Given the description of an element on the screen output the (x, y) to click on. 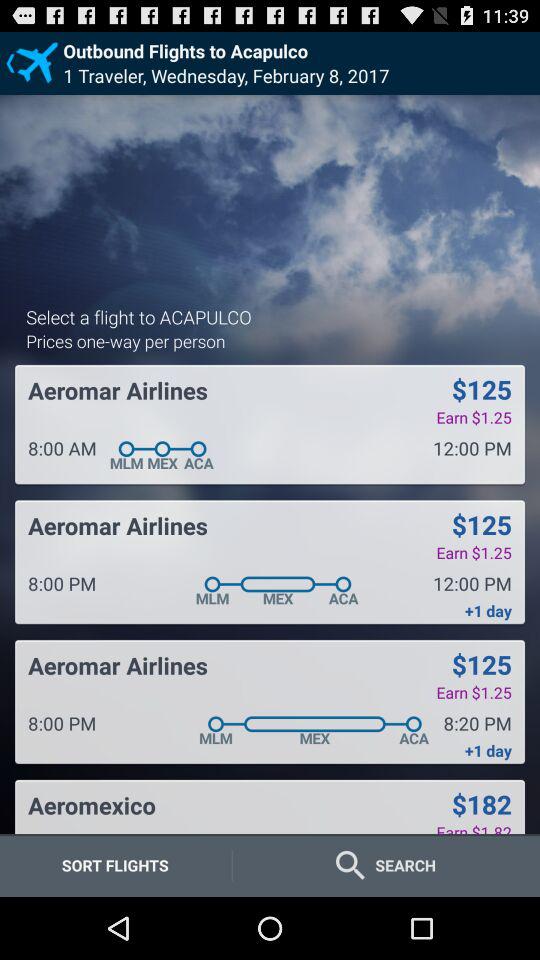
select icon below +1 day icon (481, 803)
